Given the description of an element on the screen output the (x, y) to click on. 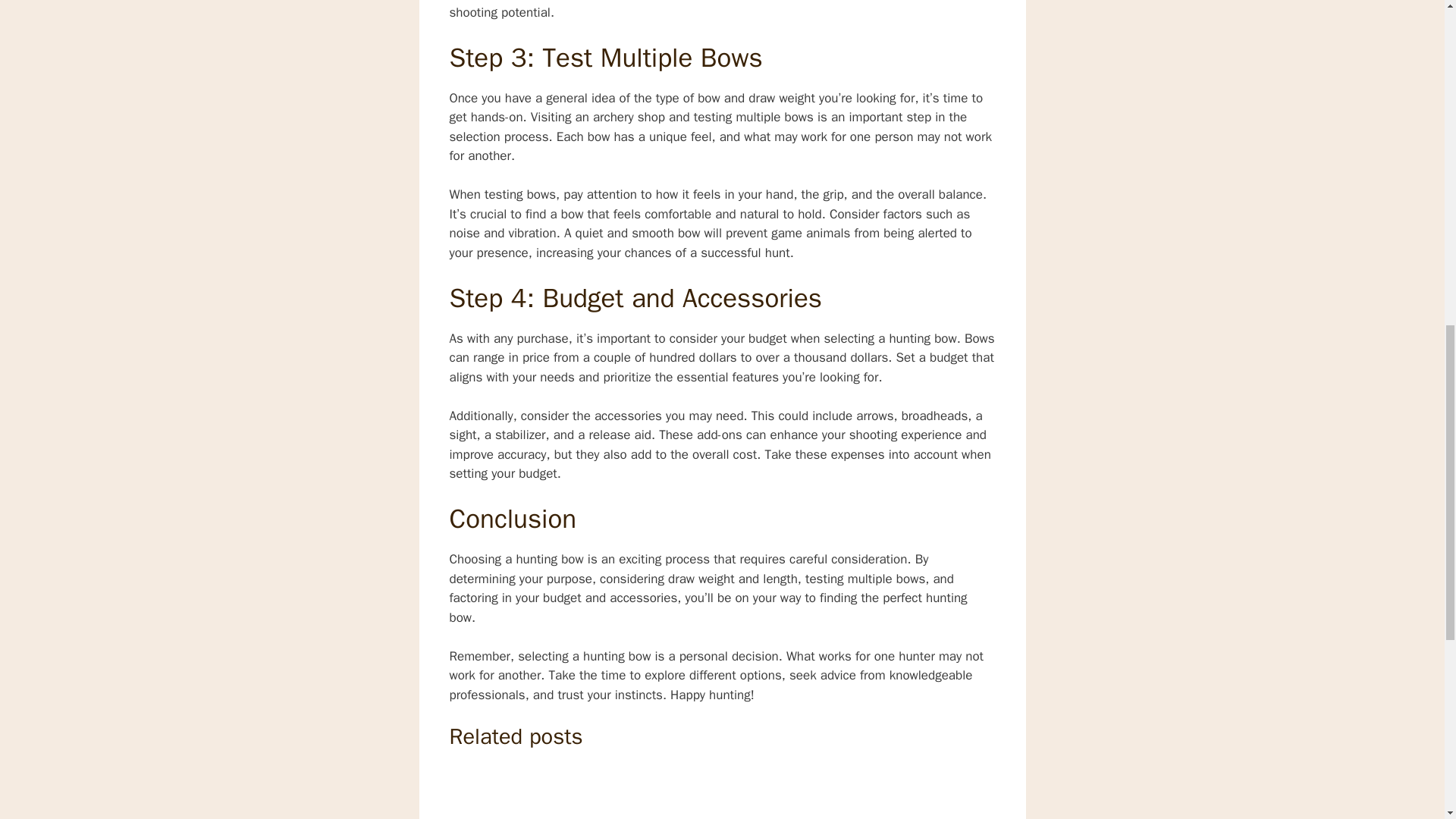
Bow Hunting After Rifle Season (633, 791)
What Is The Best Mathews Bow For Hunting (510, 791)
How To Hold A Hunting Bow (877, 791)
Best Way To Hunt Deer In The Forest (754, 791)
